Given the description of an element on the screen output the (x, y) to click on. 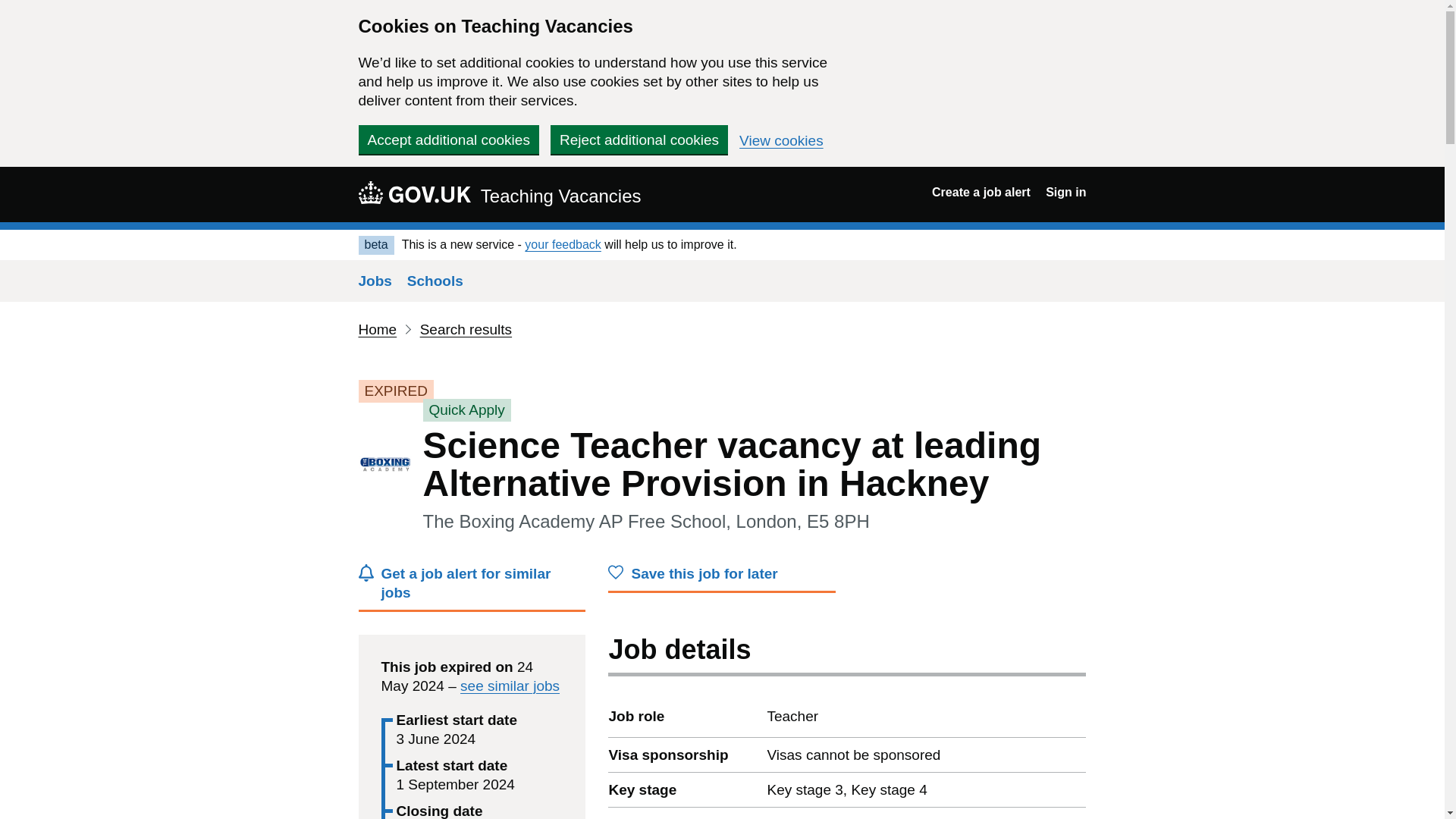
Save this job for later (721, 577)
Sign in (1065, 192)
GOV.UK Teaching Vacancies (499, 194)
GOV.UK (414, 191)
see similar jobs (509, 685)
Schools (435, 281)
your feedback (562, 244)
Home (377, 329)
Reject additional cookies (639, 139)
